Given the description of an element on the screen output the (x, y) to click on. 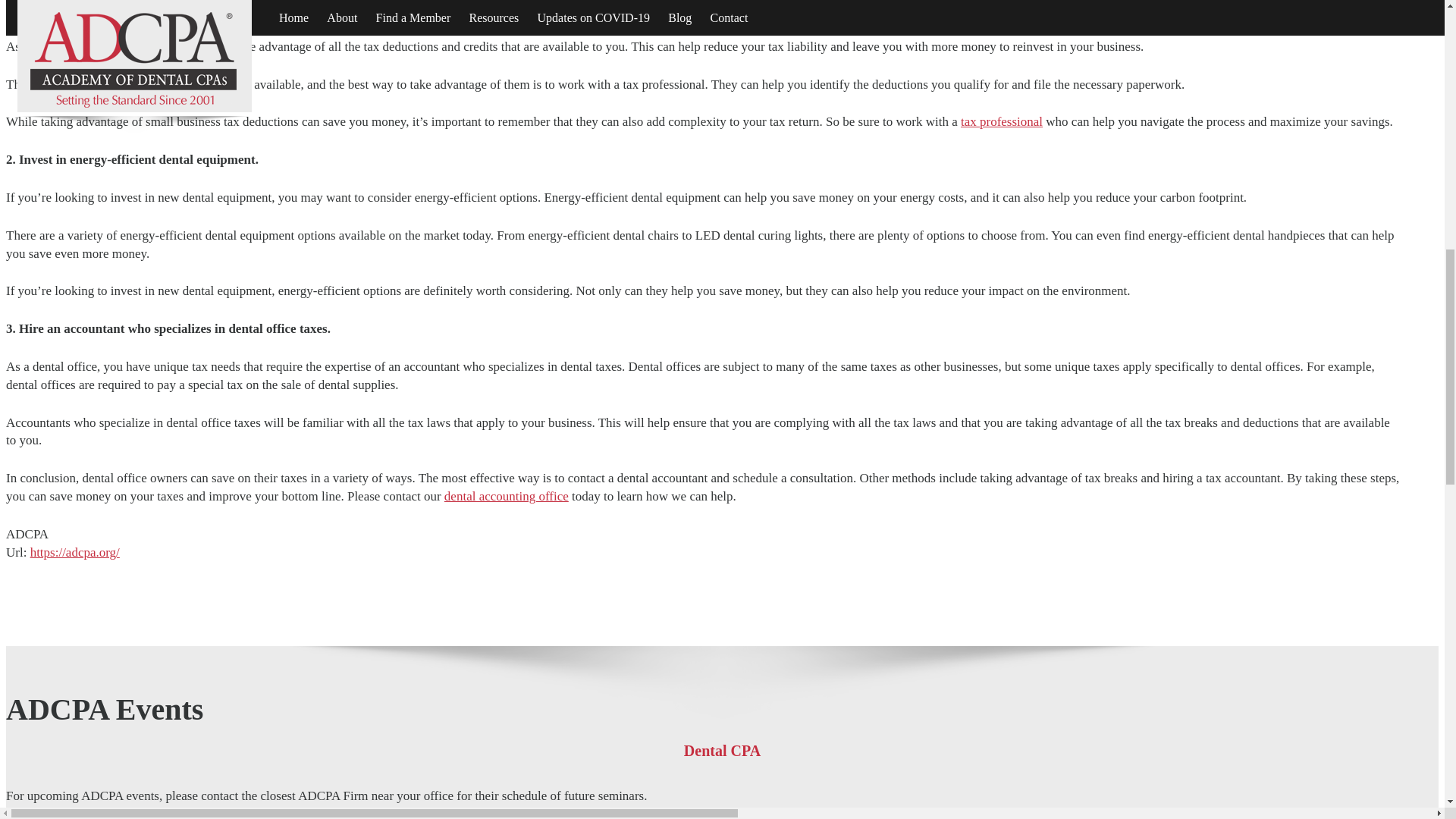
tax professional (1001, 121)
dental accounting office (506, 495)
